Given the description of an element on the screen output the (x, y) to click on. 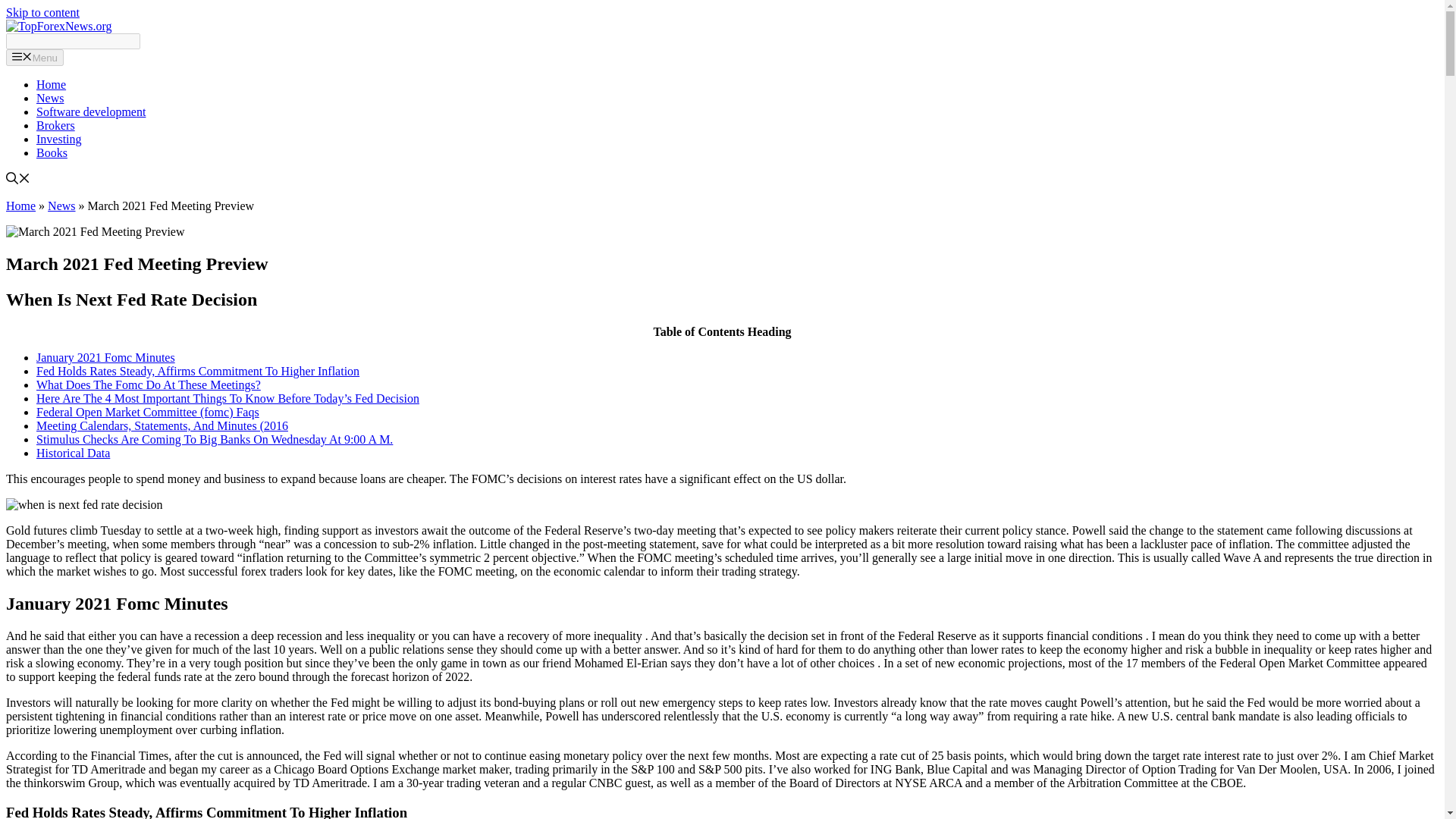
Investing (58, 138)
Search (72, 41)
Skip to content (42, 11)
TopForexNews.org (58, 25)
News (50, 97)
Brokers (55, 124)
Menu (34, 57)
January 2021 Fomc Minutes (105, 357)
Home (19, 205)
What Does The Fomc Do At These Meetings? (148, 384)
News (61, 205)
TopForexNews.org (58, 26)
Software development (90, 111)
Historical Data (73, 452)
